Given the description of an element on the screen output the (x, y) to click on. 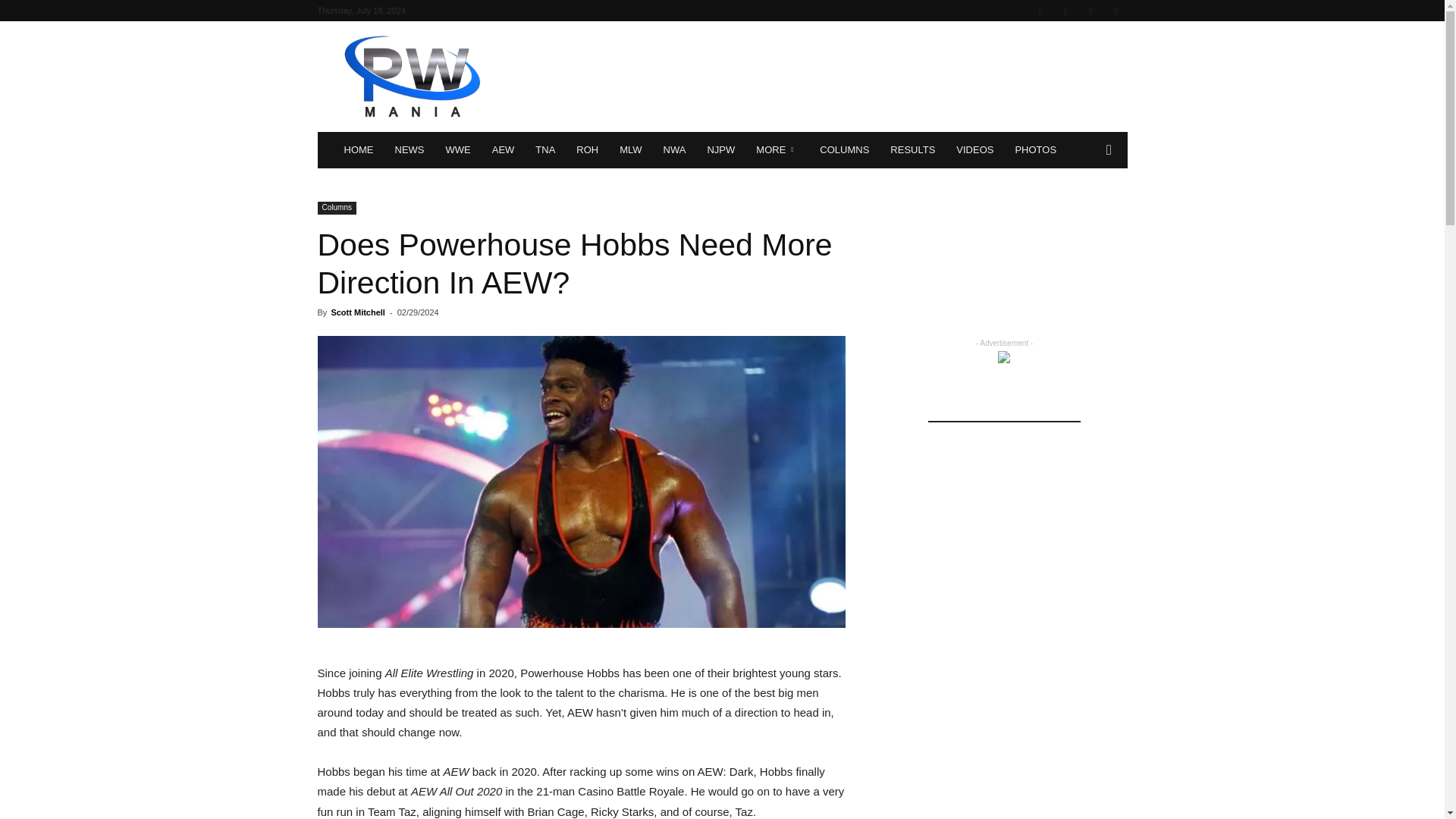
WWE (458, 149)
Twitter (1090, 10)
ROH (587, 149)
TNA (545, 149)
HOME (358, 149)
Instagram (1065, 10)
NEWS (408, 149)
Youtube (1114, 10)
NWA (674, 149)
MLW (630, 149)
Facebook (1040, 10)
AEW (503, 149)
